Given the description of an element on the screen output the (x, y) to click on. 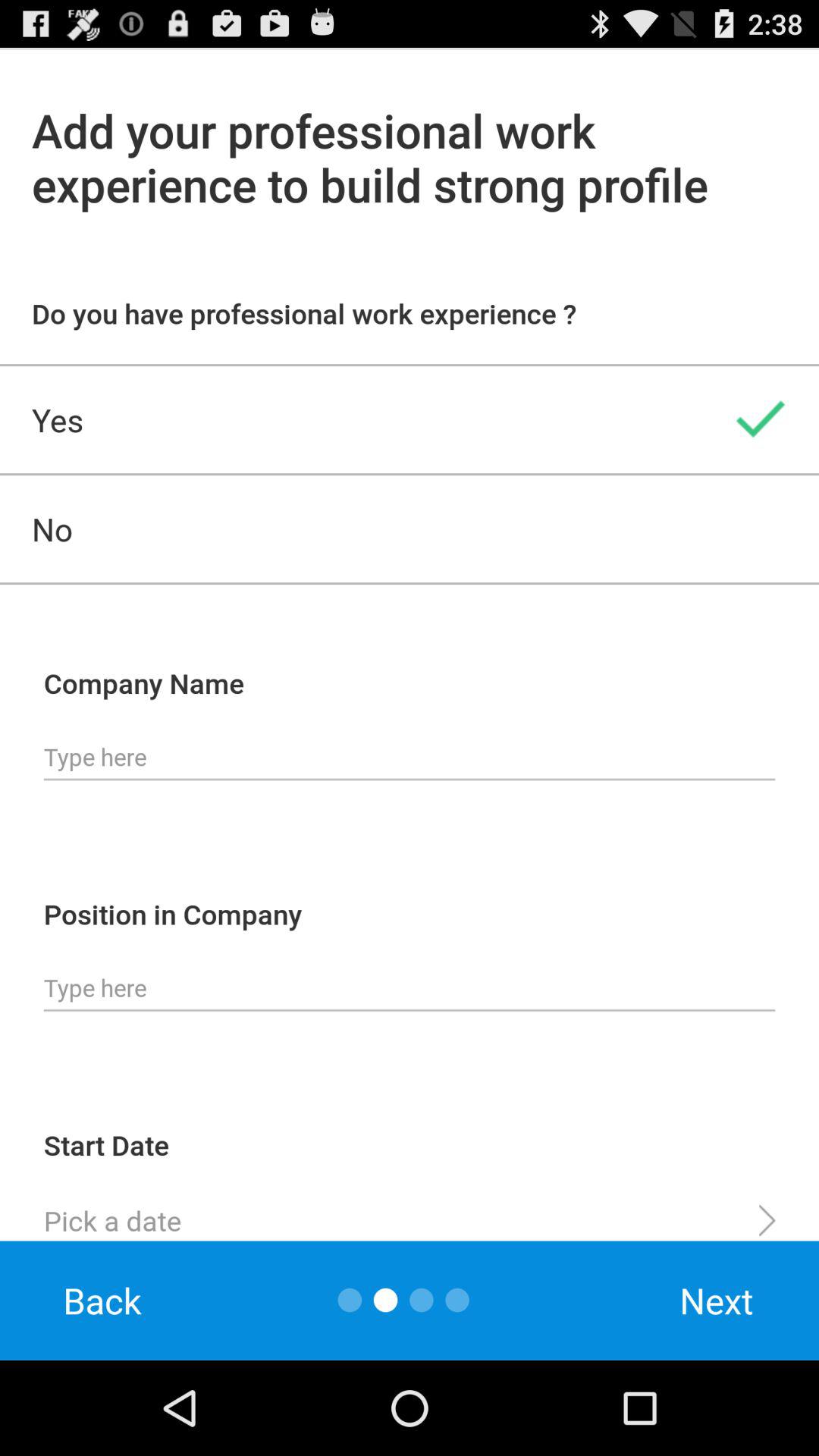
scroll until the no item (409, 528)
